Given the description of an element on the screen output the (x, y) to click on. 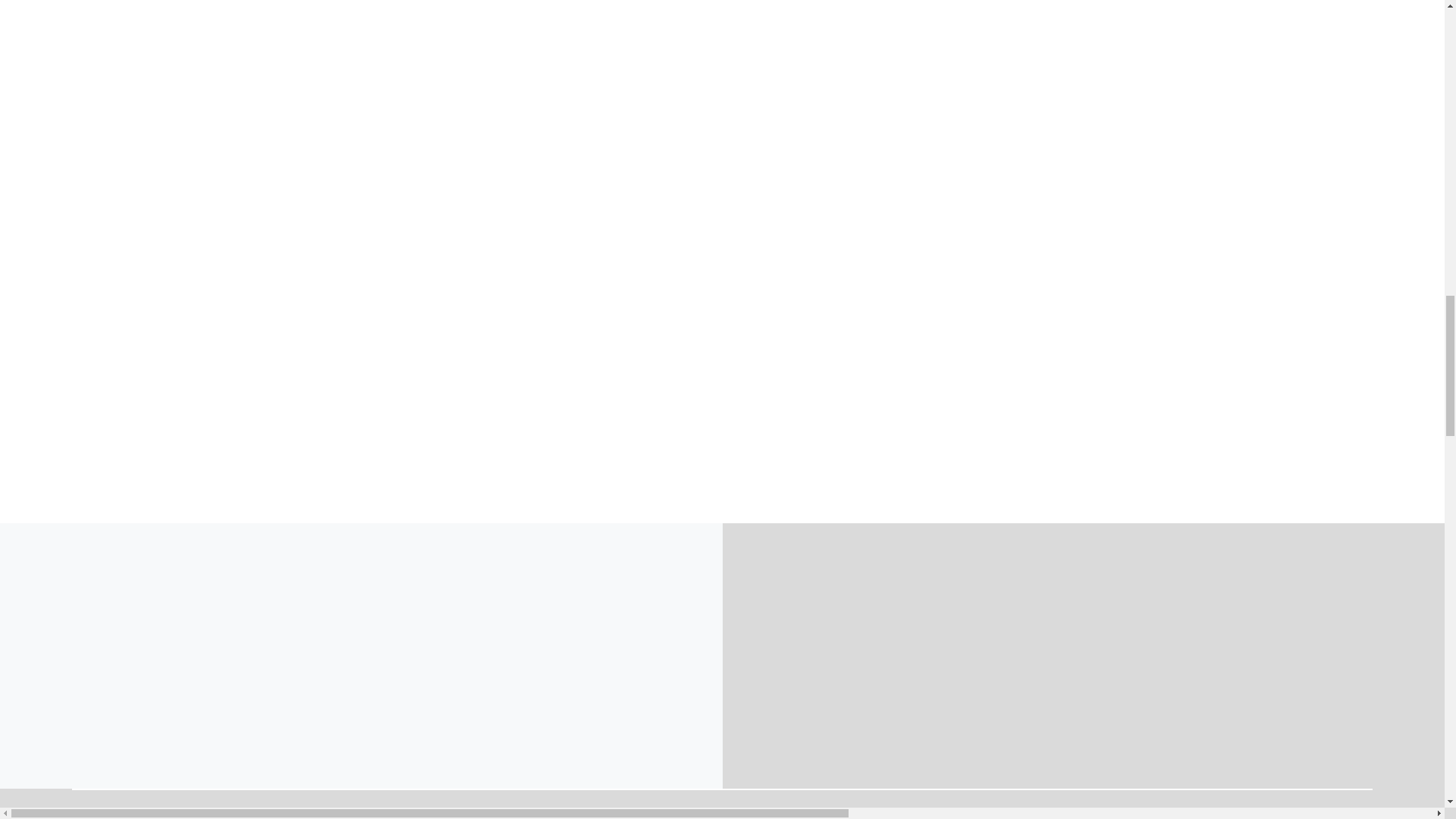
her-age  on Facebook (882, 710)
her-age  on Linkedin (991, 710)
her-age  on Pinterest (935, 710)
her-age  on Instagram (854, 710)
her-age  on YouTube (963, 710)
her-age  on Twitter (909, 710)
